Given the description of an element on the screen output the (x, y) to click on. 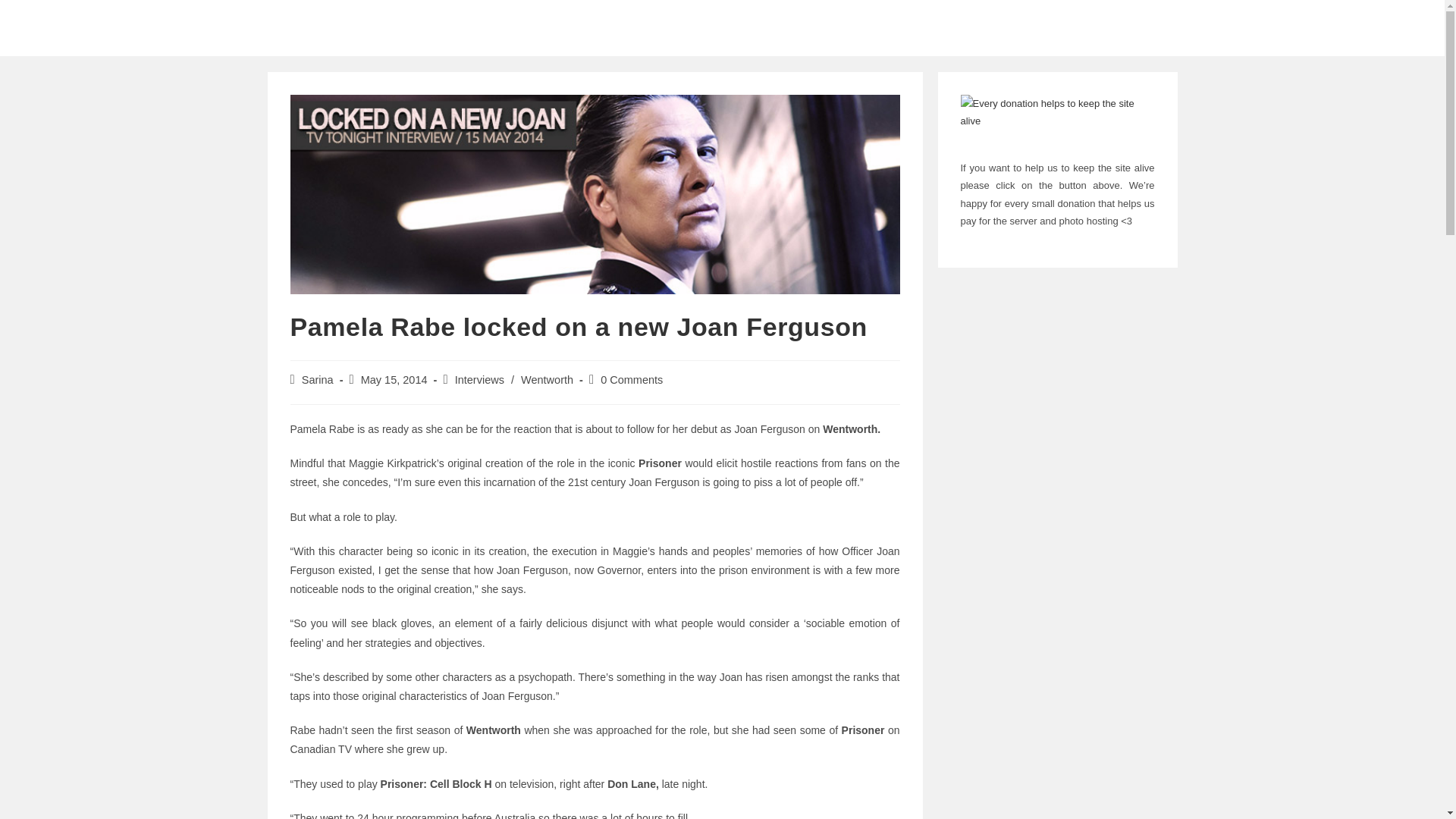
Posts by Sarina (317, 379)
Every donation helps to keep the site alive (1056, 119)
